Given the description of an element on the screen output the (x, y) to click on. 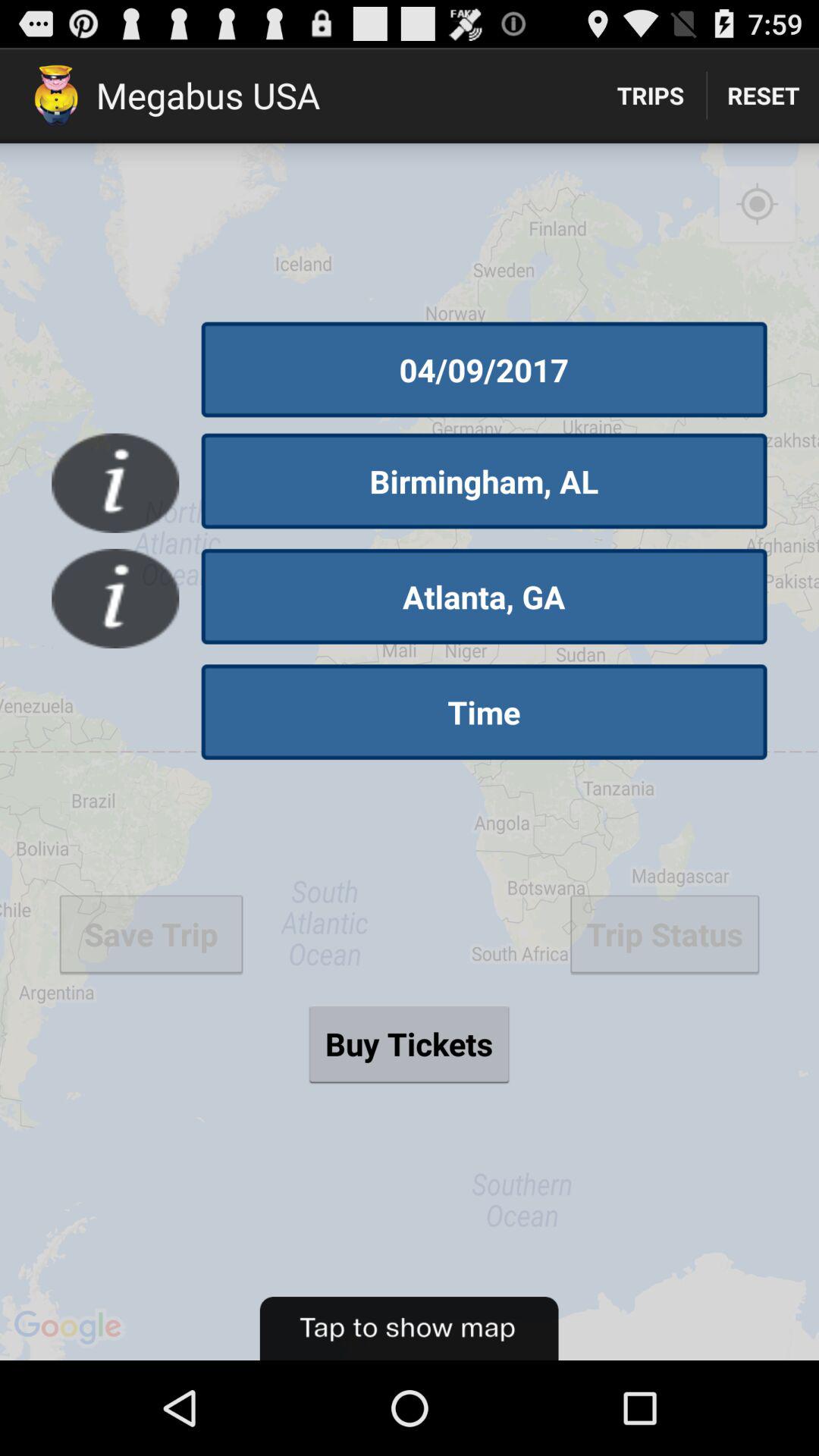
launch reset icon (763, 95)
